Given the description of an element on the screen output the (x, y) to click on. 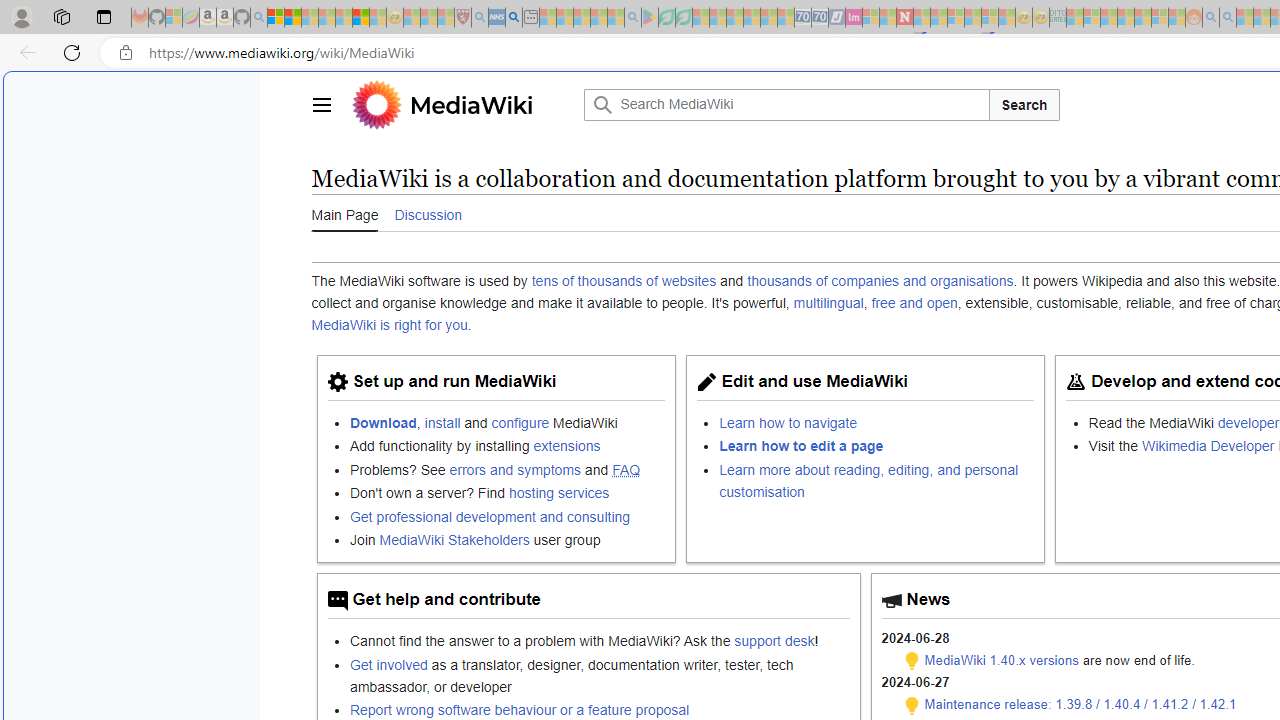
Report wrong software behaviour or a feature proposal (519, 709)
configure (520, 422)
Discussion (428, 213)
Add functionality by installing extensions (507, 445)
FAQ (626, 469)
extensions (566, 446)
Problems? See errors and symptoms and FAQ (507, 468)
